Given the description of an element on the screen output the (x, y) to click on. 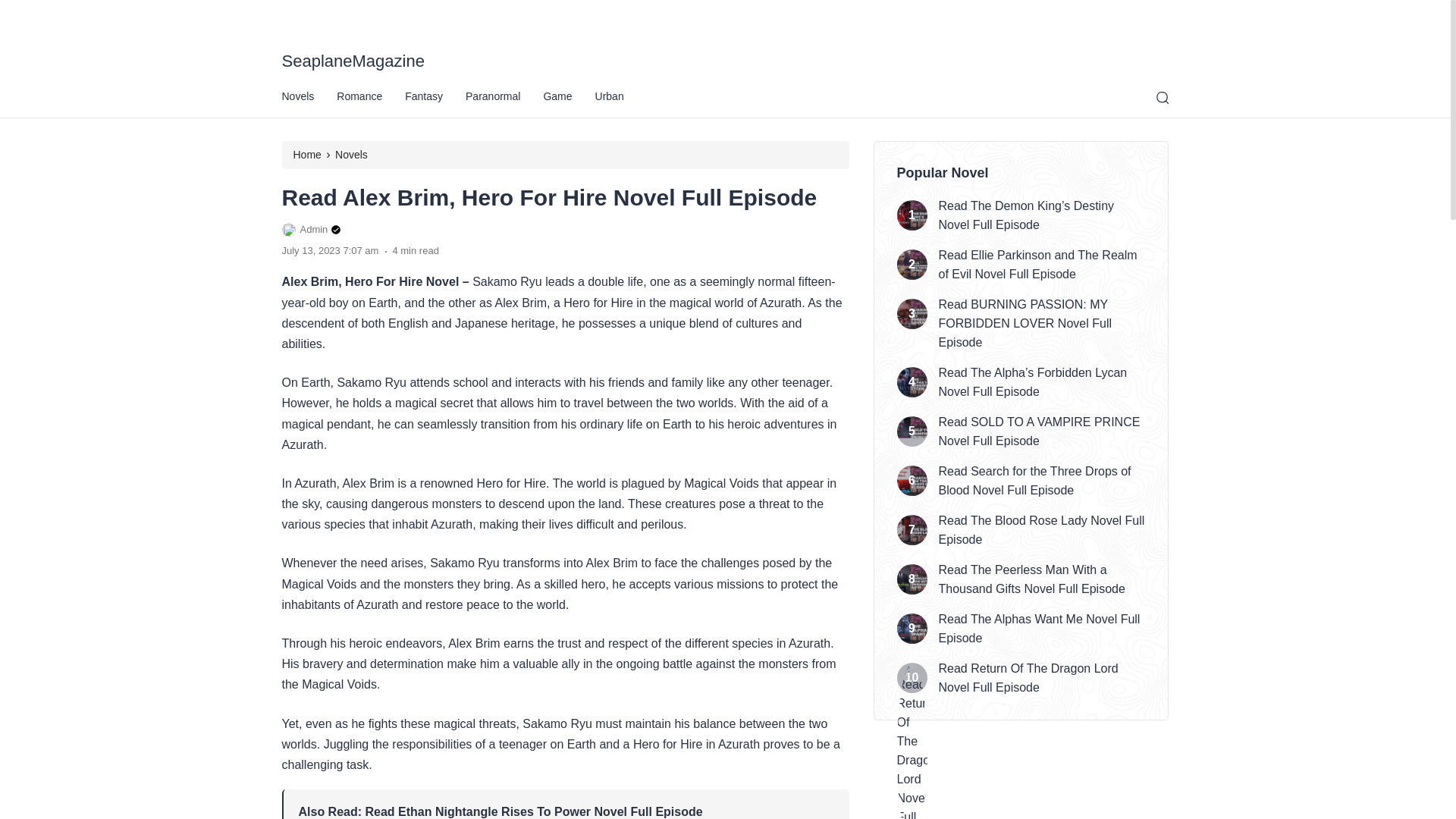
Romance (358, 96)
Novels (351, 154)
Romance (341, 13)
Read Alex Brim, Hero For Hire Novel Full Episode (549, 197)
Fantasy (390, 13)
Home (306, 154)
Paranormal (442, 13)
Admin (312, 230)
SeaplaneMagazine (725, 60)
Fantasy (423, 96)
Read Ethan Nightangle Rises To Power Novel Full Episode (534, 811)
Paranormal (492, 96)
Urban (528, 13)
Novels (296, 13)
Game (491, 13)
